Given the description of an element on the screen output the (x, y) to click on. 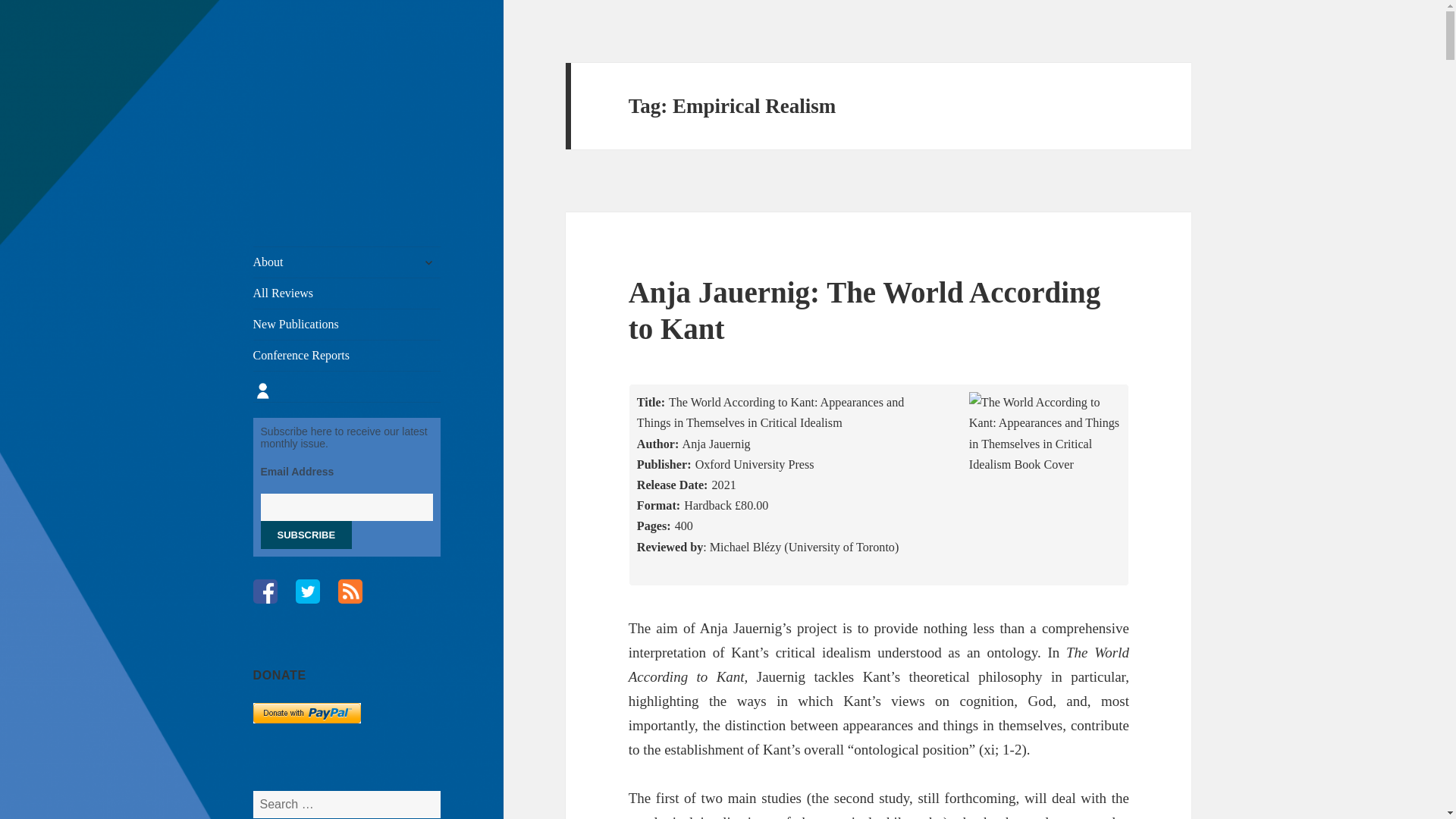
Phenomenological Reviews (344, 86)
Subscribe (306, 534)
All Reviews (347, 293)
expand child menu (428, 262)
Anja Jauernig: The World According to Kant (864, 310)
Conference Reports (347, 355)
New Publications (347, 324)
Subscribe (306, 534)
About (347, 262)
